Given the description of an element on the screen output the (x, y) to click on. 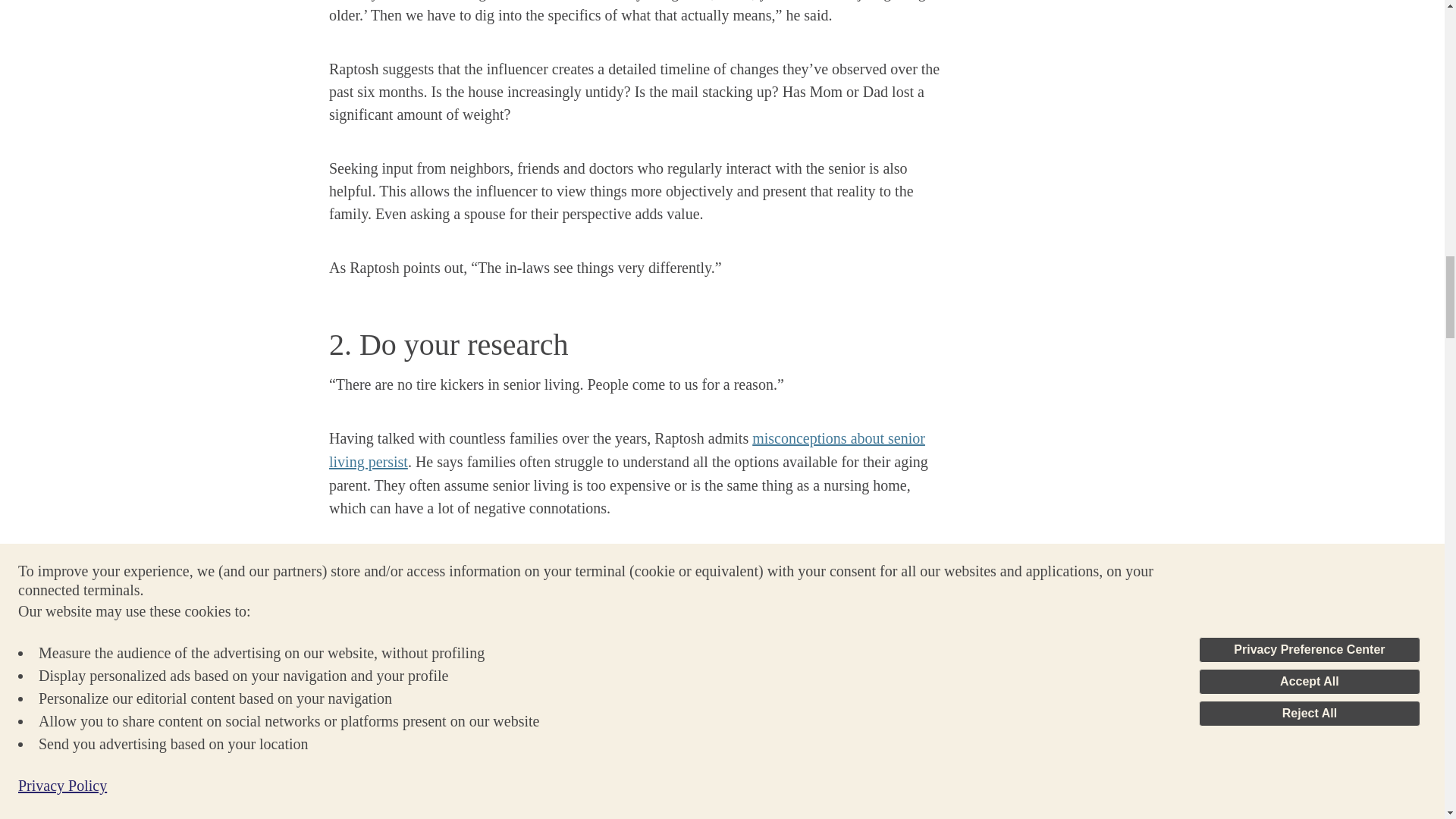
misconceptions about senior living persist (626, 449)
